Given the description of an element on the screen output the (x, y) to click on. 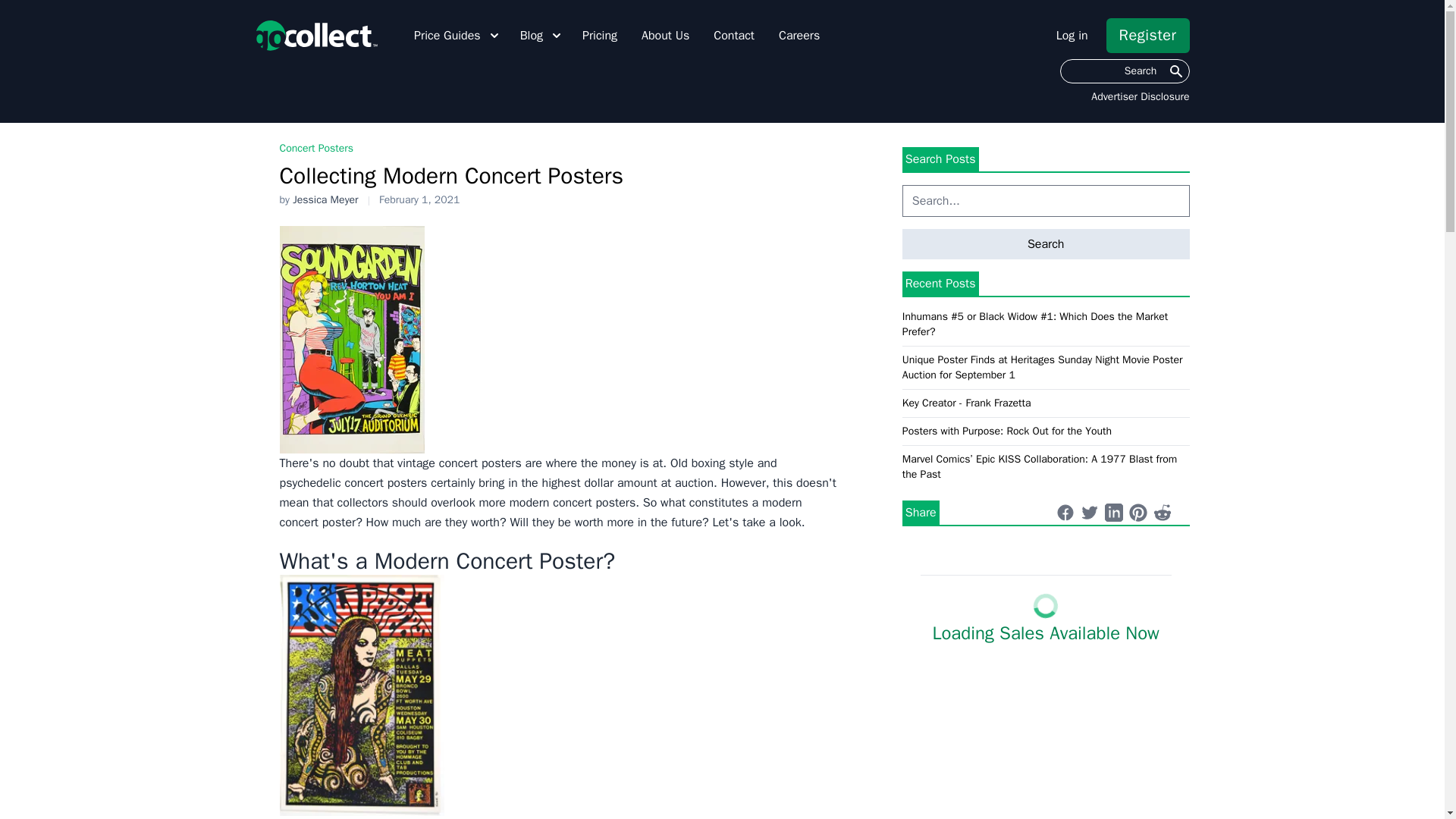
Concert Posters (316, 147)
Pricing (599, 35)
Blog (541, 35)
Log in (1072, 35)
Search (1124, 70)
Contact (733, 35)
Register (1147, 35)
Advertiser Disclosure (1139, 96)
GoCollect (315, 35)
Price Guides (457, 35)
